Given the description of an element on the screen output the (x, y) to click on. 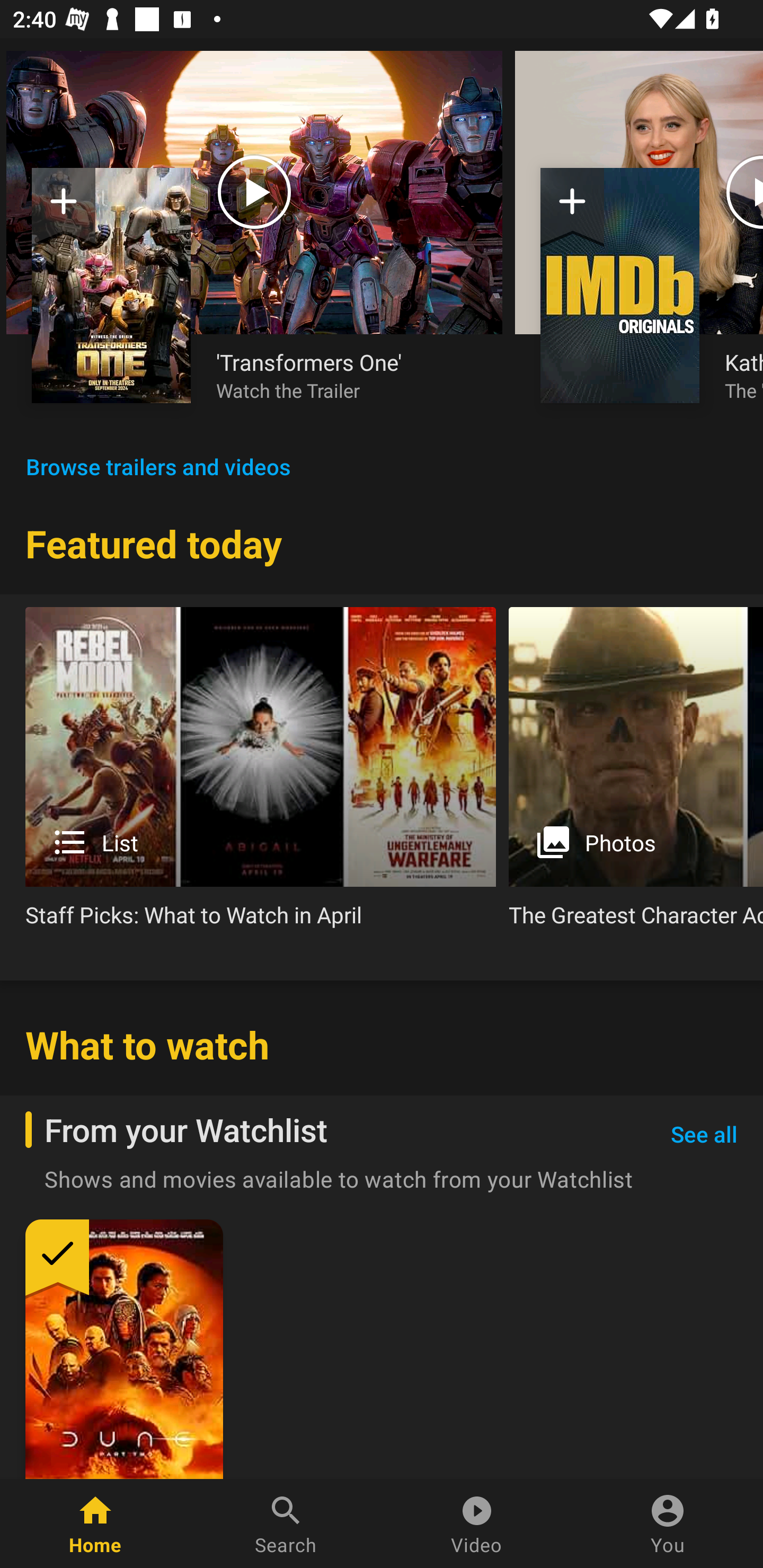
Not in watchlist (111, 284)
Not in watchlist (63, 207)
Not in watchlist (619, 284)
Not in watchlist (572, 207)
'Transformers One' Watch the Trailer (345, 374)
List Staff Picks: What to Watch in April (260, 774)
Photos The Greatest Character Actors of All Time (635, 774)
See all See all From your Watchlist (703, 1134)
Search (285, 1523)
Video (476, 1523)
You (667, 1523)
